Given the description of an element on the screen output the (x, y) to click on. 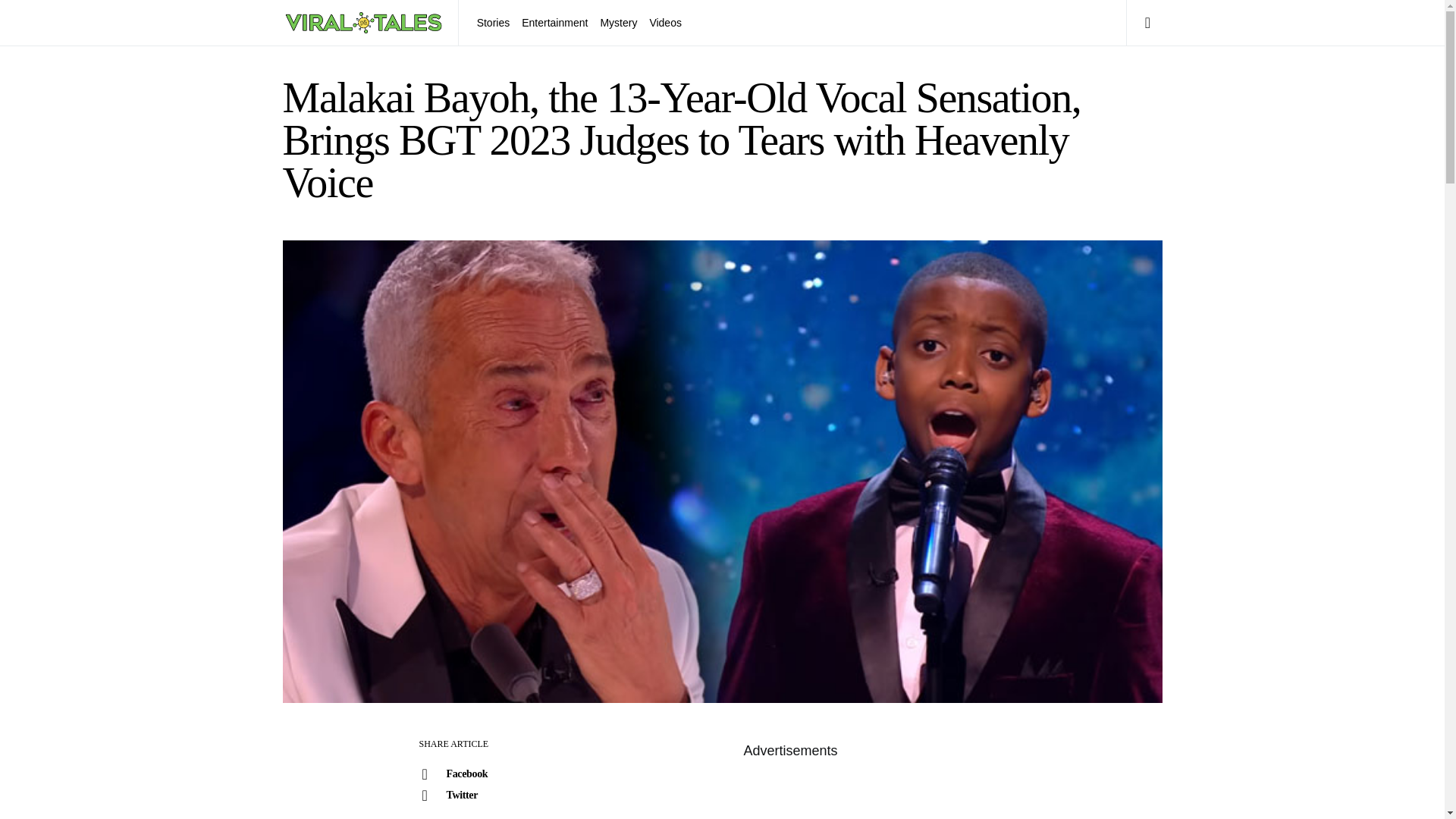
Mystery (618, 22)
Twitter (470, 794)
Entertainment (554, 22)
Facebook (470, 773)
